Given the description of an element on the screen output the (x, y) to click on. 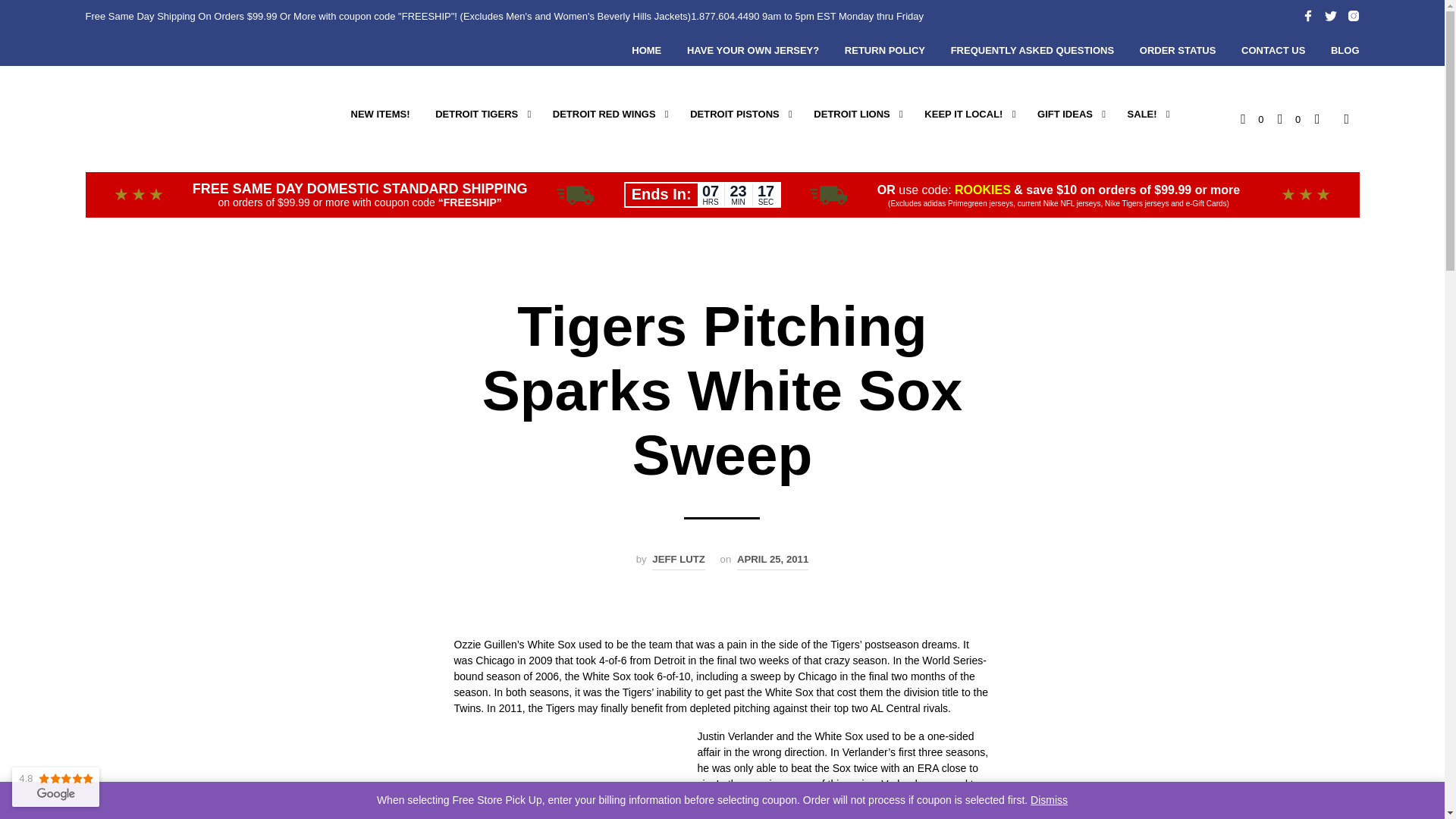
Permalink to Tigers Pitching Sparks White Sox Sweep (772, 561)
Justin-Verlander (566, 773)
View all posts by Jeff Lutz (678, 561)
